Given the description of an element on the screen output the (x, y) to click on. 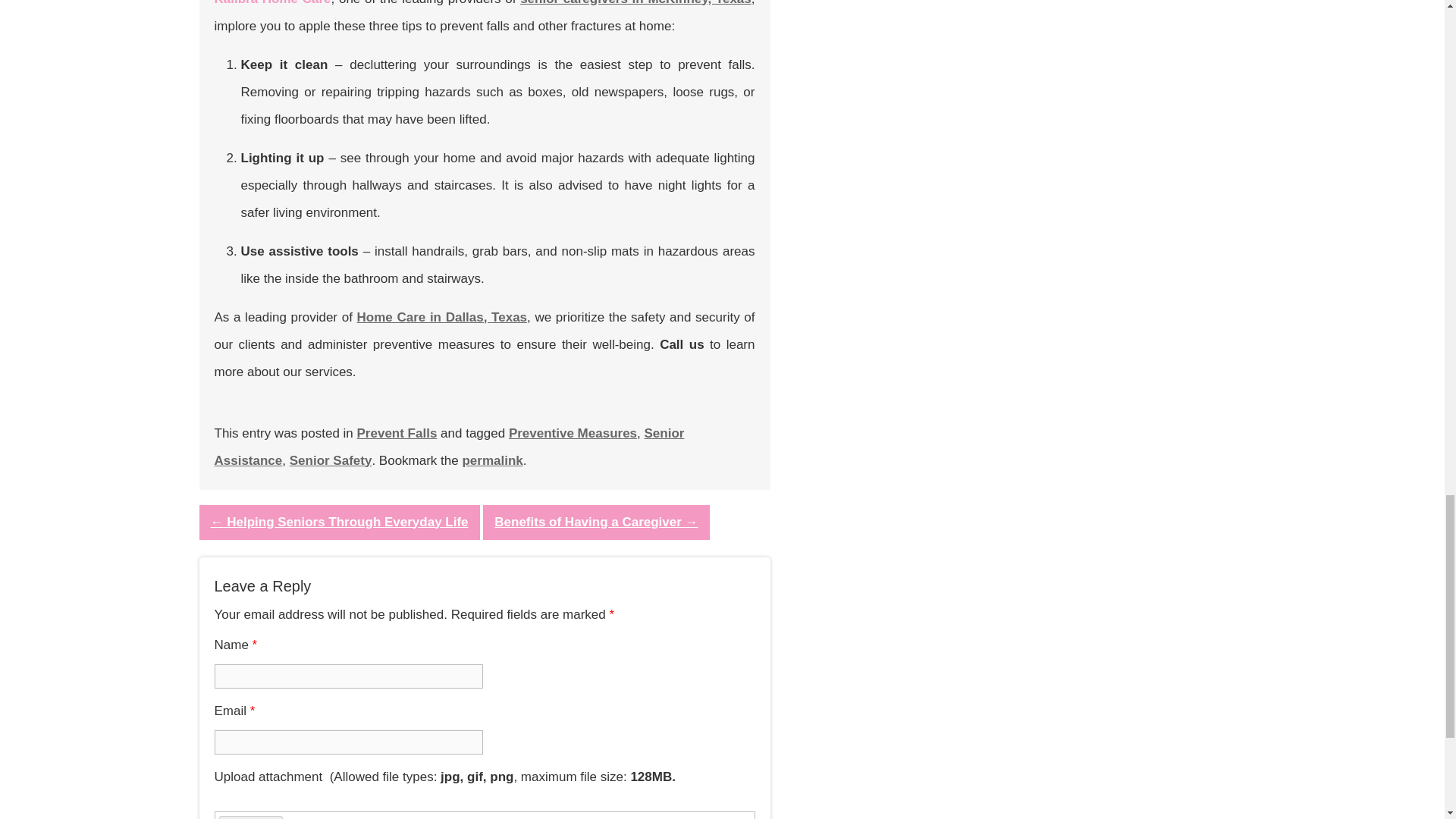
Senior Safety (330, 460)
Senior Assistance (449, 446)
permalink (491, 460)
senior caregivers in McKinney, Texas (635, 2)
Preventive Measures (572, 432)
Call us (681, 343)
Home Care in Dallas, Texas (441, 316)
Prevent Falls (397, 432)
